Given the description of an element on the screen output the (x, y) to click on. 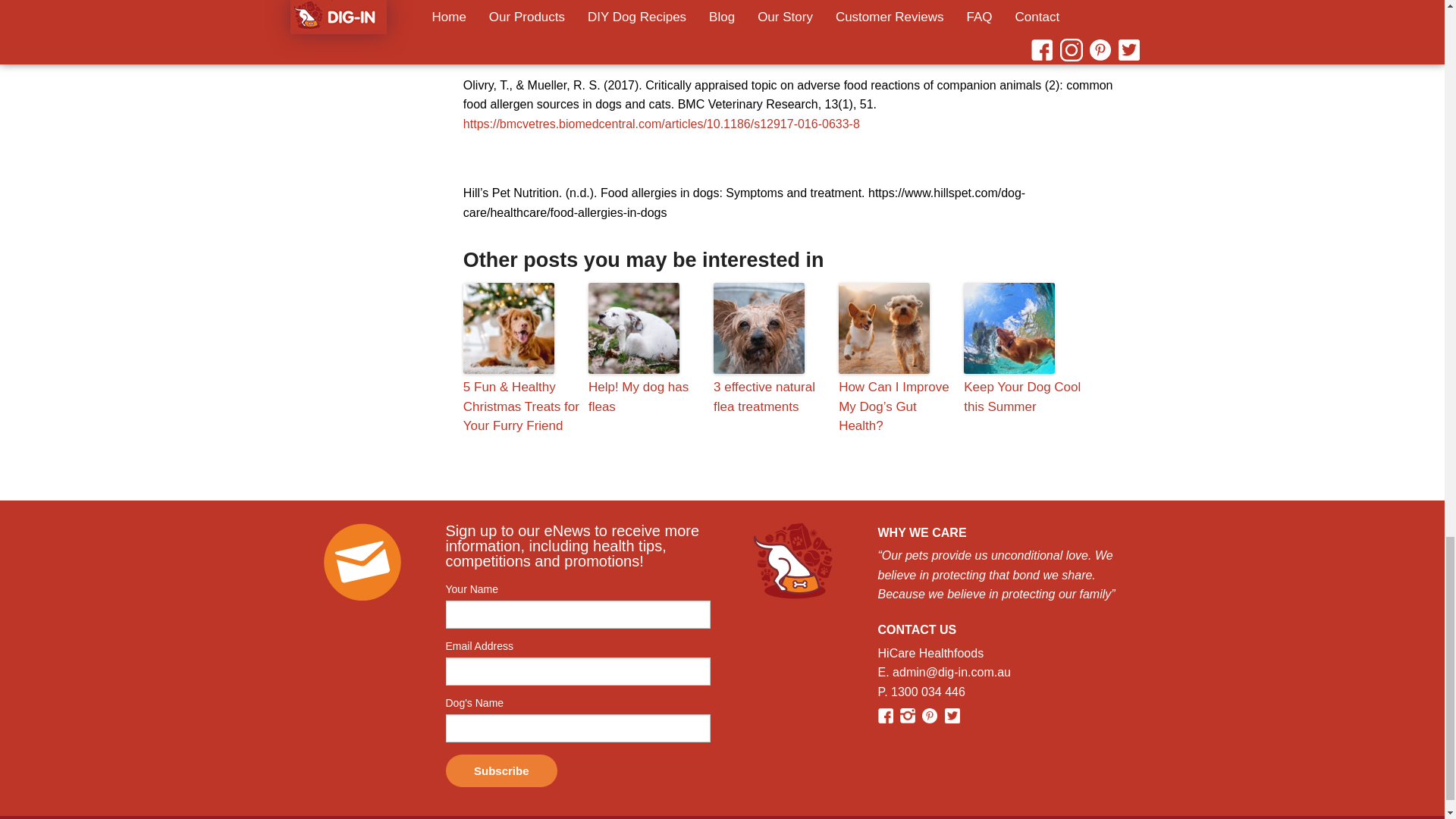
3 effective natural flea treatments (772, 396)
Subscribe (501, 770)
Help! My dog has fleas (647, 396)
See us on Instagram (908, 714)
Find us on Facebook (886, 714)
Keep Your Dog Cool this Summer (1022, 396)
Share with us on Pinterest (930, 714)
